Given the description of an element on the screen output the (x, y) to click on. 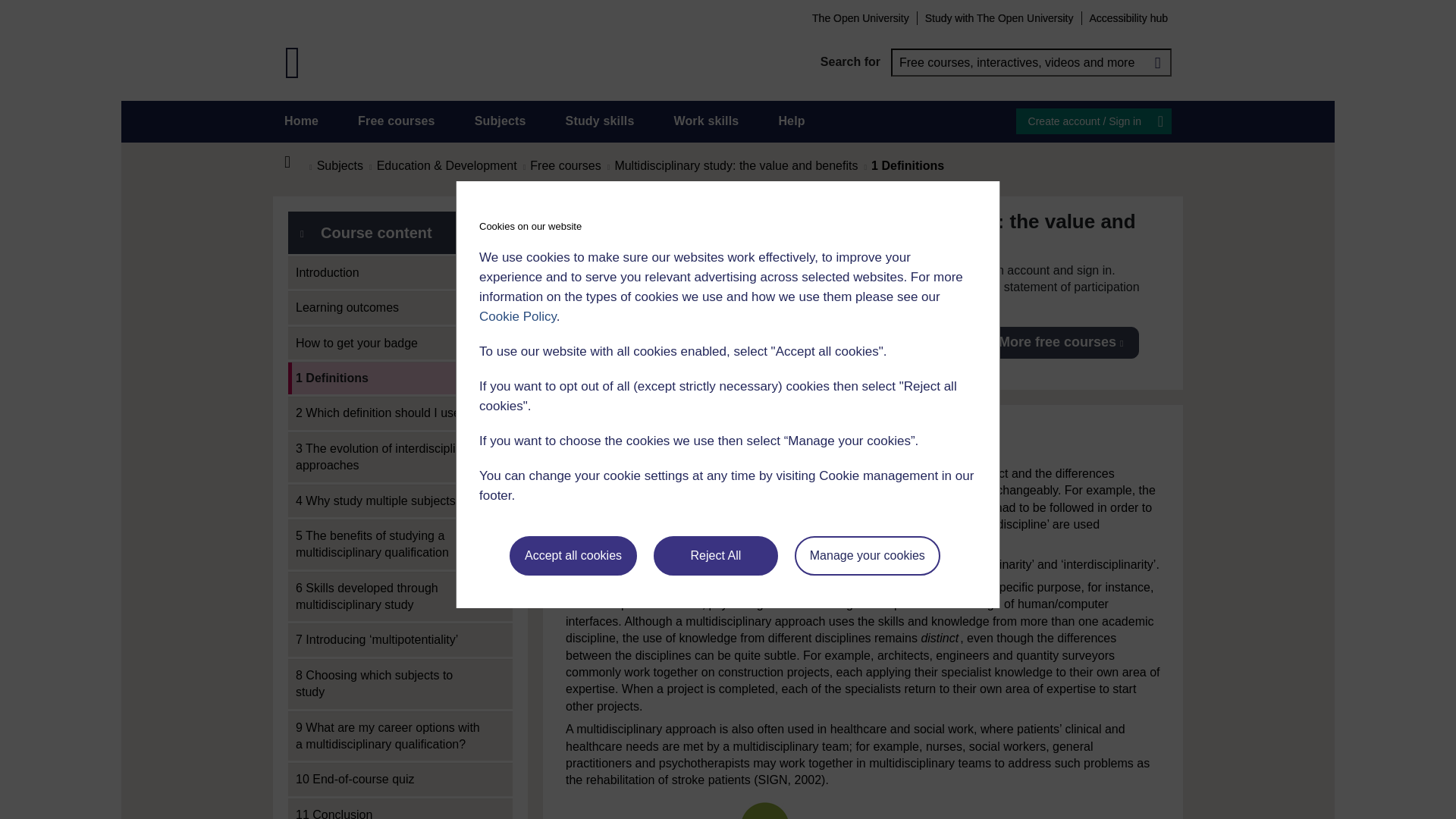
Home (295, 162)
Study with The Open University (999, 17)
Study skills (600, 120)
Search (1157, 62)
Manage your cookies (867, 555)
Accept all cookies (573, 555)
OpenLearn (292, 62)
Cookie Policy (517, 316)
Help (791, 120)
Accessibility hub (1129, 17)
Subjects (499, 120)
Reject All (715, 555)
The Open University (860, 17)
Work skills (705, 120)
Free courses (396, 120)
